Given the description of an element on the screen output the (x, y) to click on. 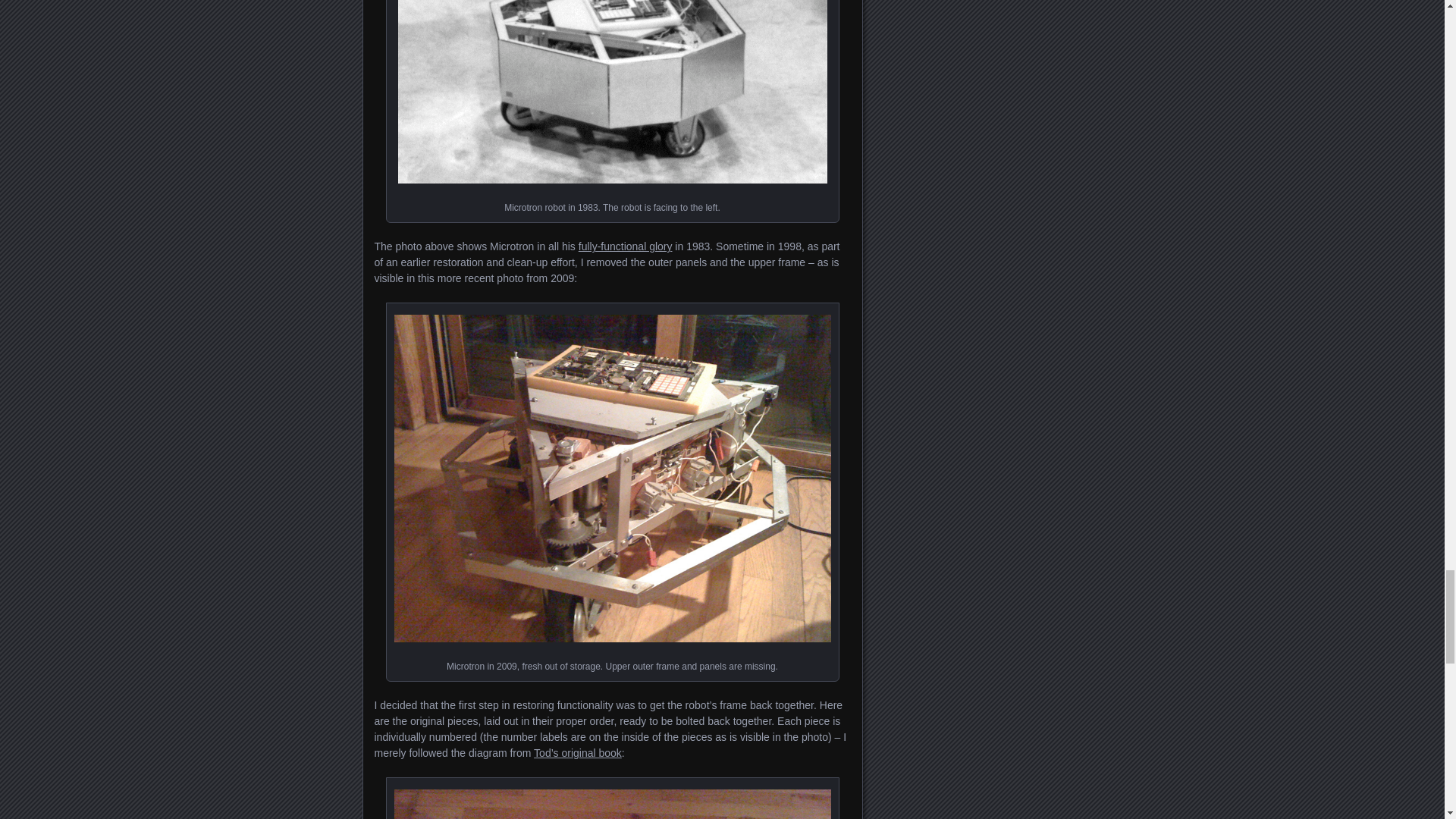
Microtron in 1983 (612, 91)
upper frame pieces (612, 804)
